Given the description of an element on the screen output the (x, y) to click on. 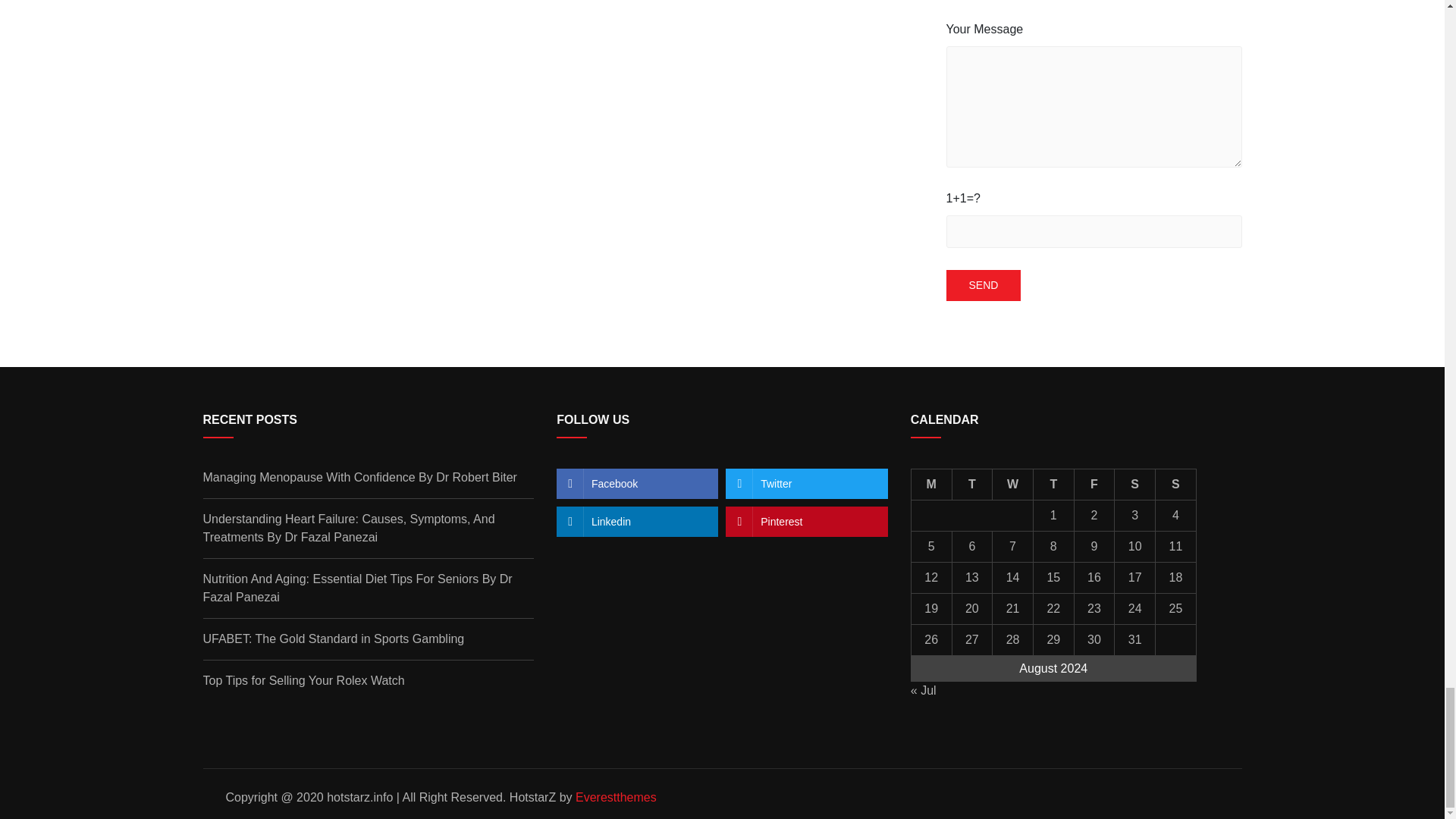
Tuesday (972, 484)
Friday (1094, 484)
Monday (931, 484)
Sunday (1176, 484)
Thursday (1053, 484)
Wednesday (1012, 484)
Saturday (1135, 484)
Send (984, 285)
